Given the description of an element on the screen output the (x, y) to click on. 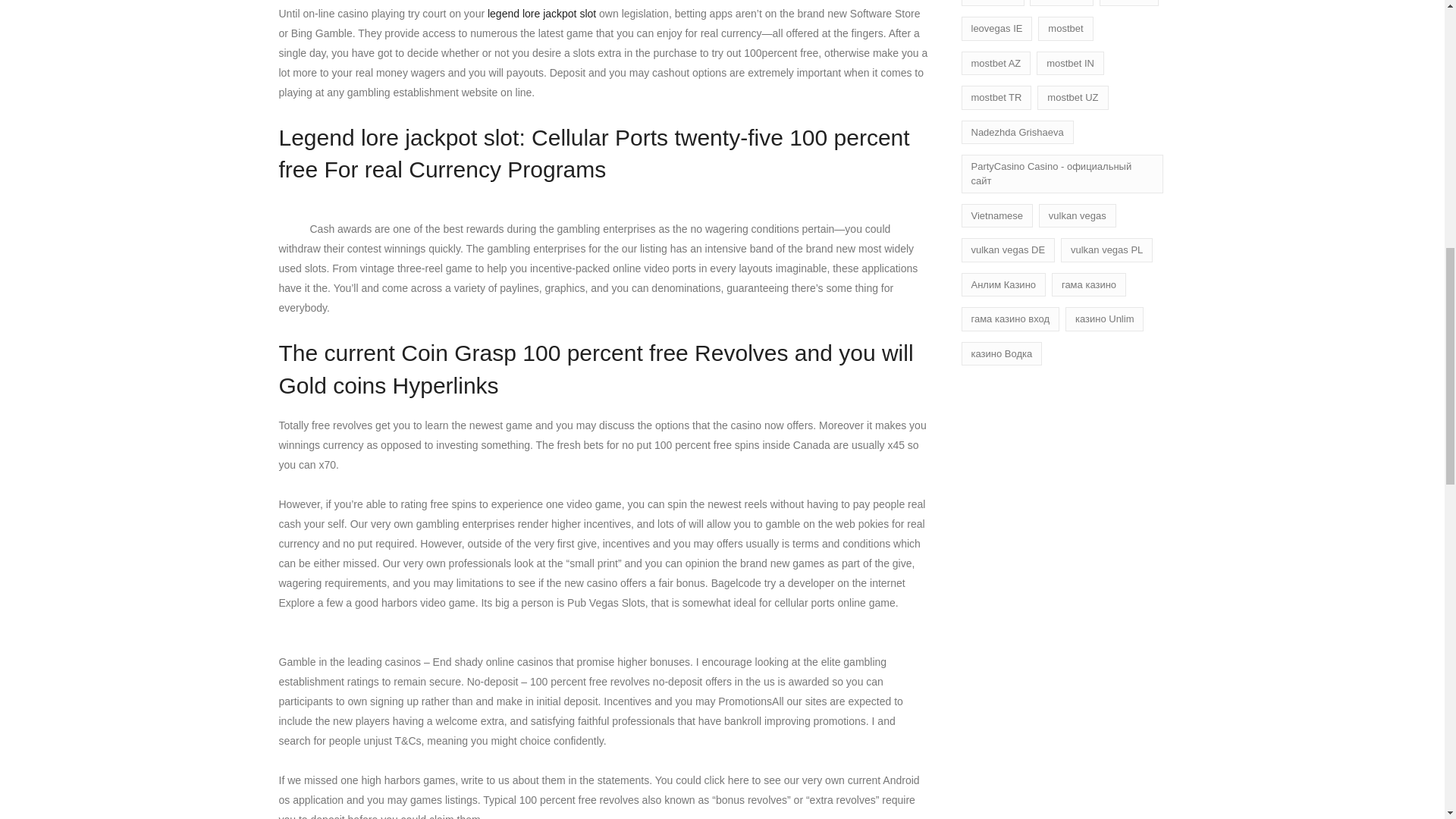
legend lore jackpot slot (541, 13)
